Given the description of an element on the screen output the (x, y) to click on. 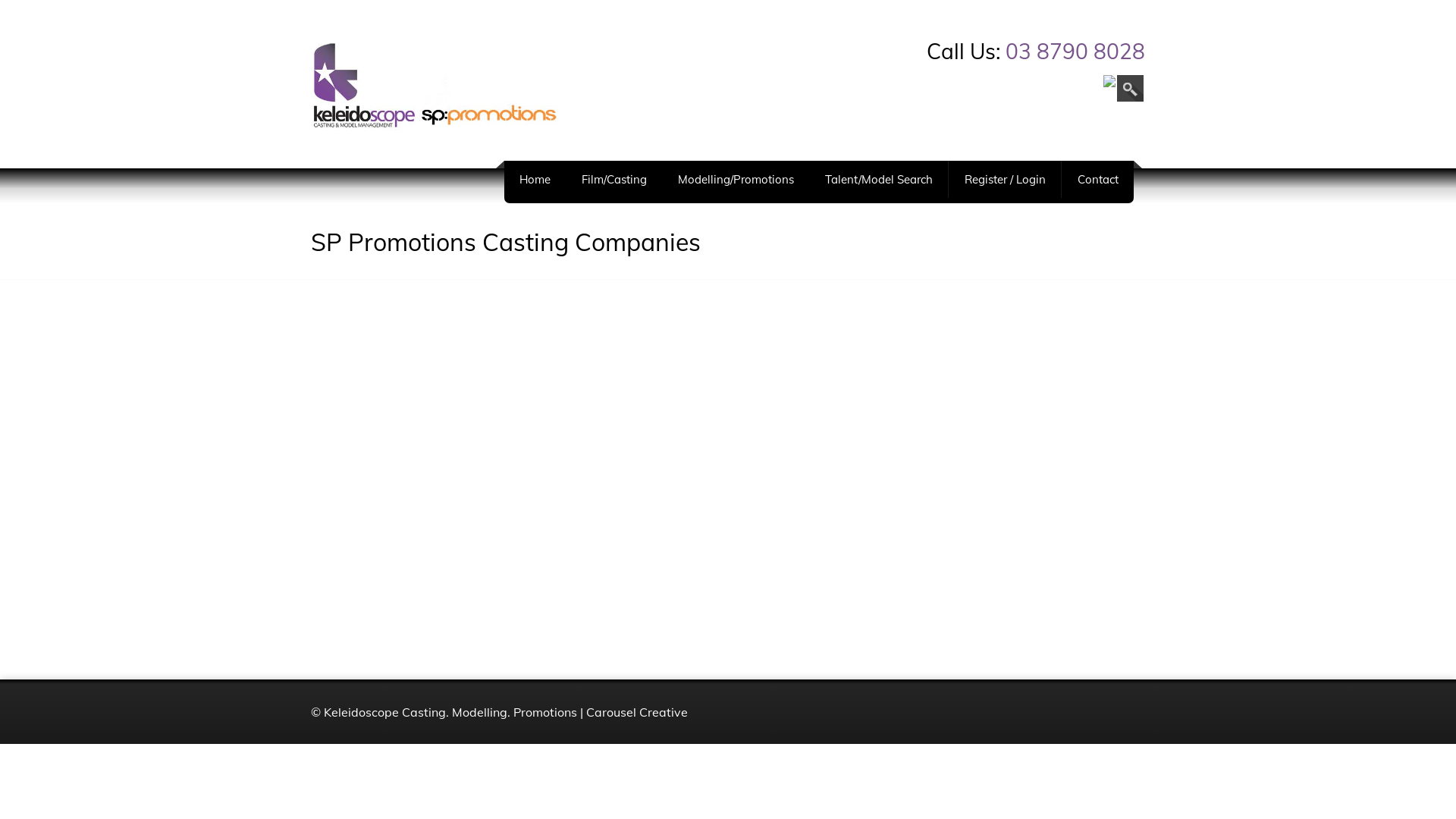
Carousel Creative Element type: text (636, 710)
03 8790 8028 Element type: text (1075, 50)
Talent/Model Search Element type: text (878, 178)
Film/Casting Element type: text (613, 178)
Modelling/Promotions Element type: text (735, 178)
Home Element type: text (534, 178)
Keleidoscope Casting and Promotions Agency Element type: hover (435, 85)
Register / Login Element type: text (1004, 178)
Contact Element type: text (1097, 178)
